Given the description of an element on the screen output the (x, y) to click on. 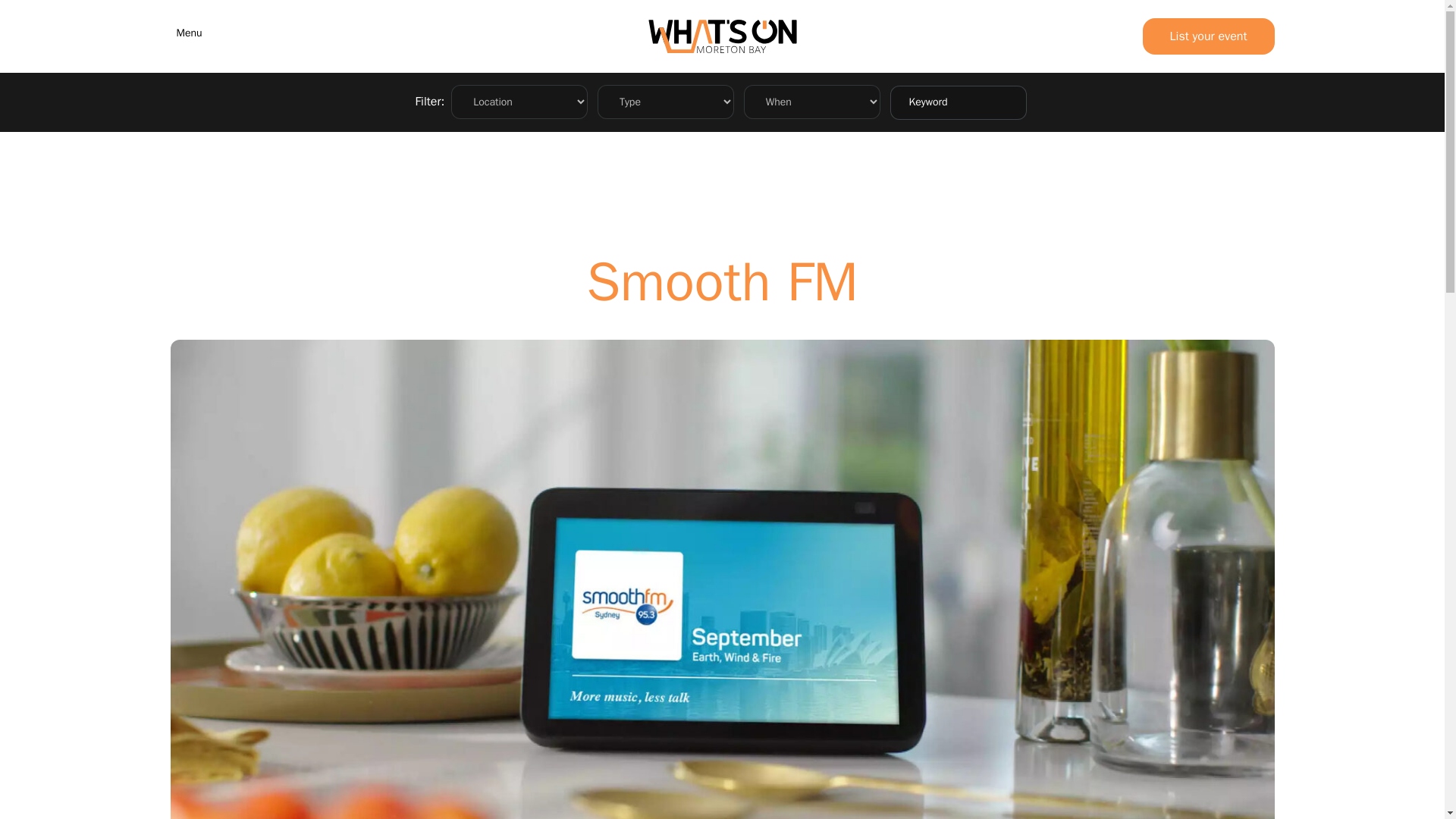
Menu (186, 30)
List your event (1208, 36)
